Given the description of an element on the screen output the (x, y) to click on. 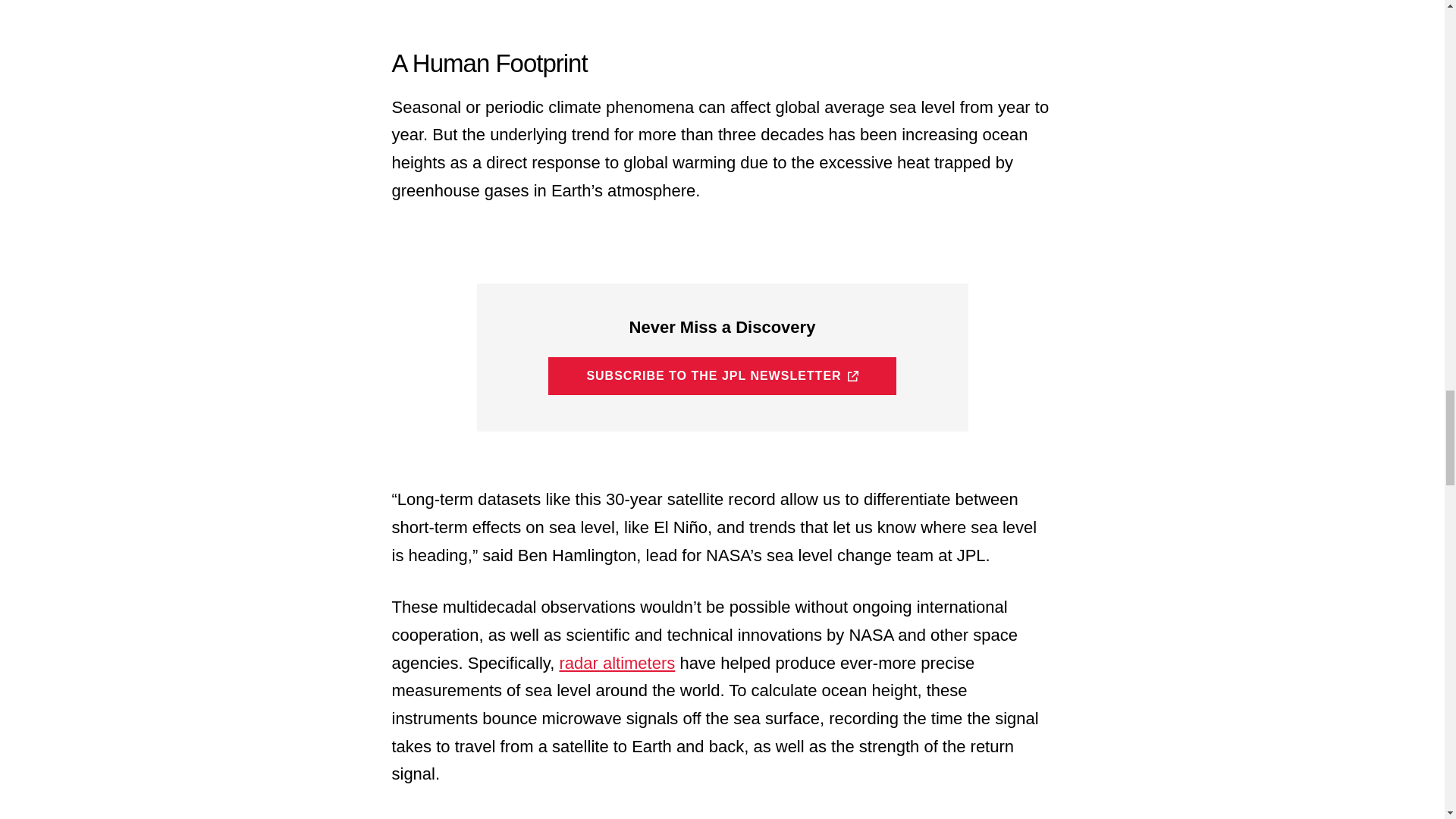
SUBSCRIBE TO THE JPL NEWSLETTER (721, 375)
radar altimeters (617, 662)
